Given the description of an element on the screen output the (x, y) to click on. 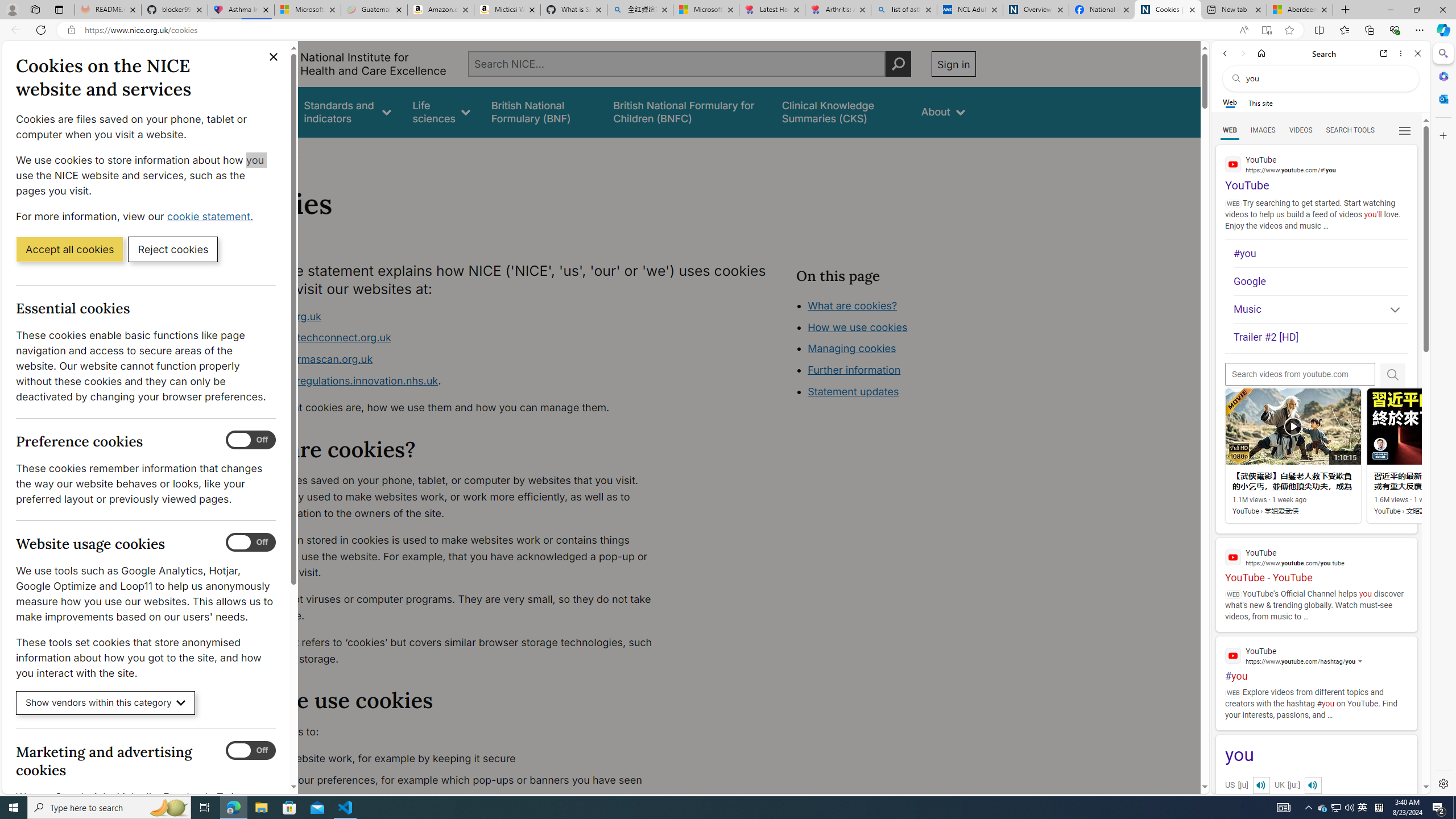
Class: dict_pnIcon rms_img (1312, 784)
Class: b_serphb (1404, 130)
How we use cookies (896, 389)
Side bar (1443, 418)
Managing cookies (852, 348)
YouTube - YouTube (1315, 560)
Close Customize pane (1442, 135)
Guidance (260, 111)
